Given the description of an element on the screen output the (x, y) to click on. 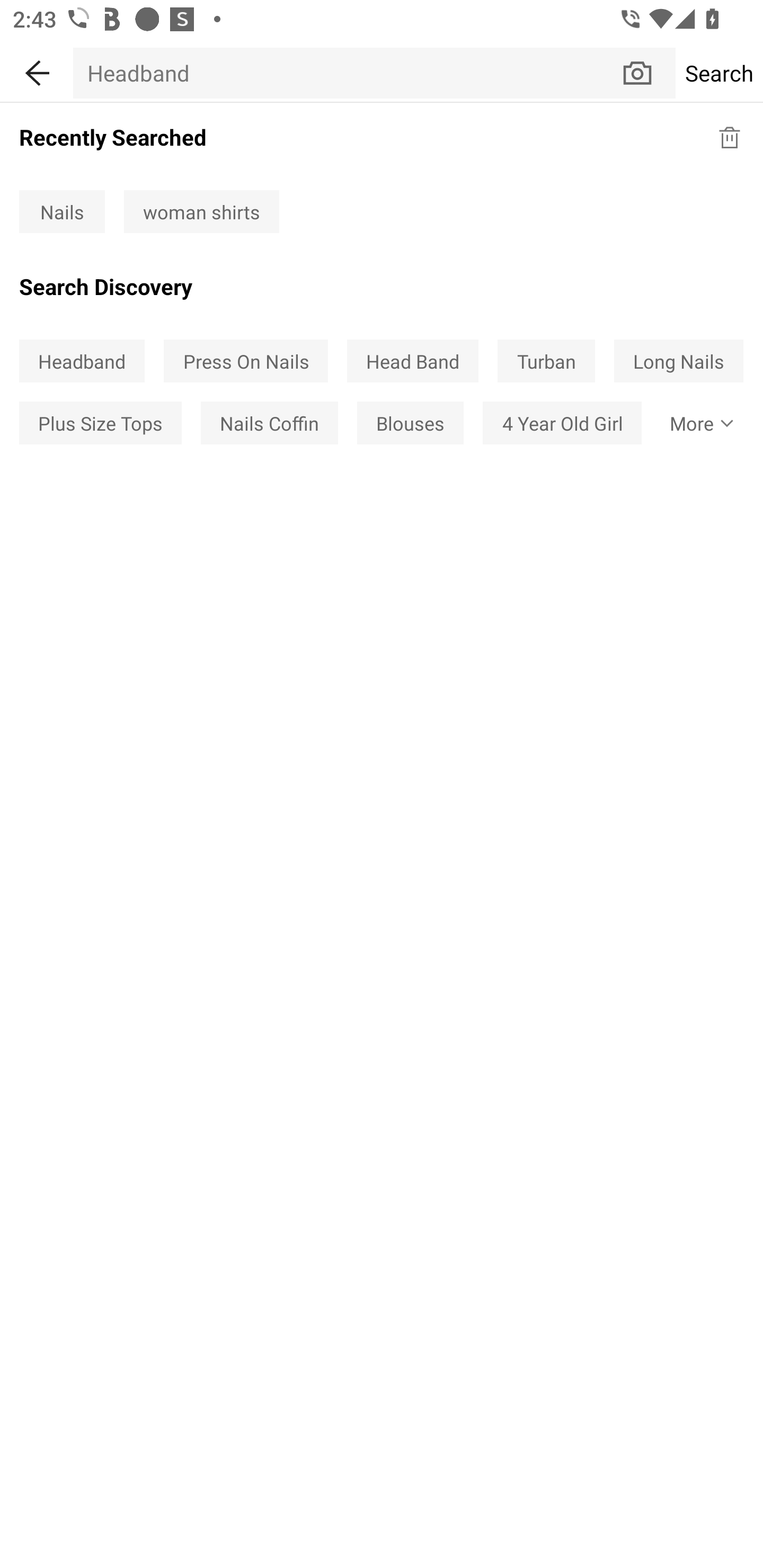
BACK (36, 69)
Headband (346, 72)
Search (719, 72)
Nails (62, 211)
woman shirts (201, 211)
Headband (81, 361)
Press On Nails (246, 361)
Head Band (412, 361)
Turban (546, 361)
Long Nails (678, 361)
Plus Size Tops (100, 422)
Nails Coffin (269, 422)
Blouses (410, 422)
4 Year Old Girl (561, 422)
More (697, 422)
